Given the description of an element on the screen output the (x, y) to click on. 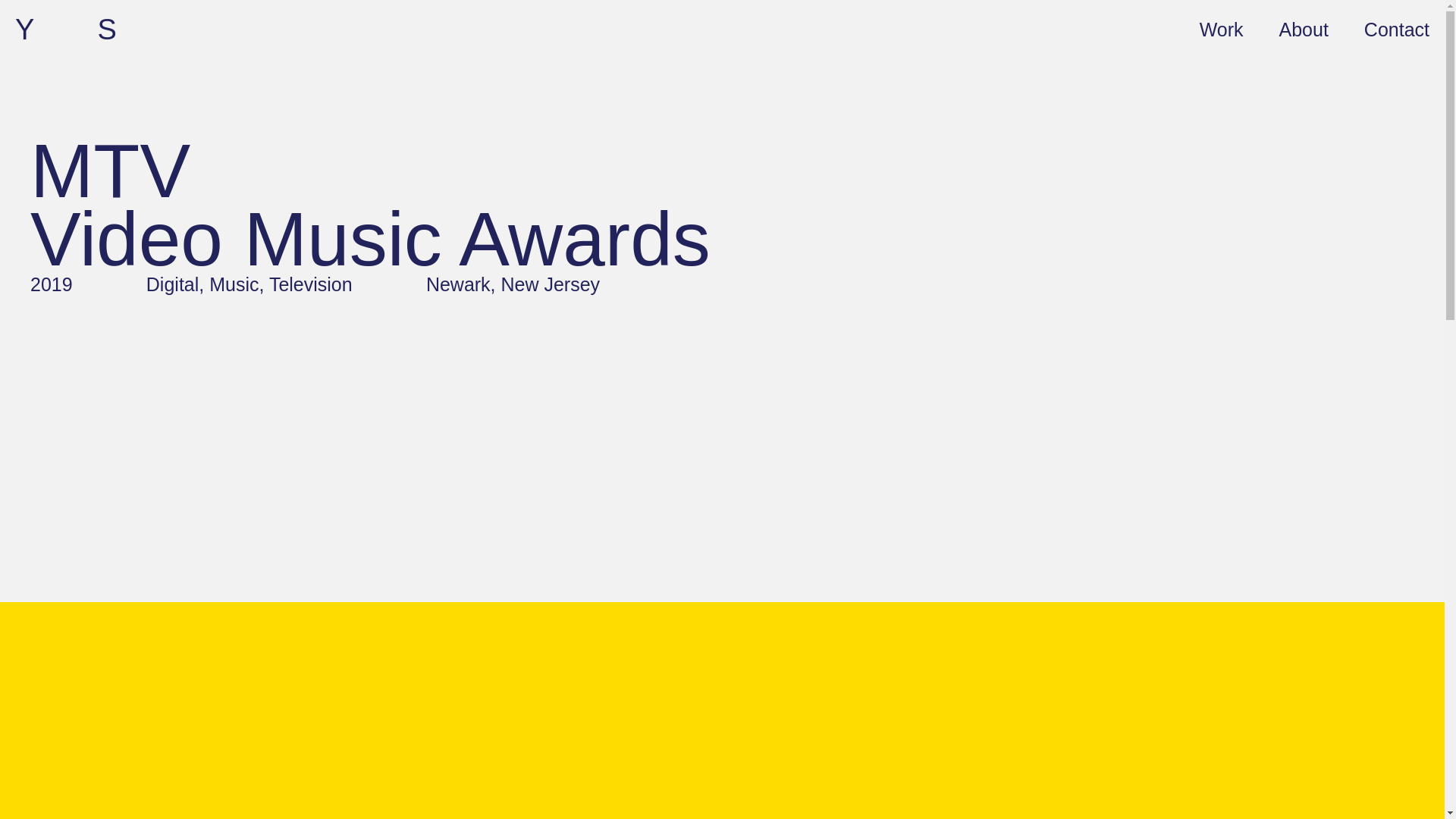
YS (96, 29)
Work (1221, 28)
Contact (1396, 28)
About (1303, 28)
